Given the description of an element on the screen output the (x, y) to click on. 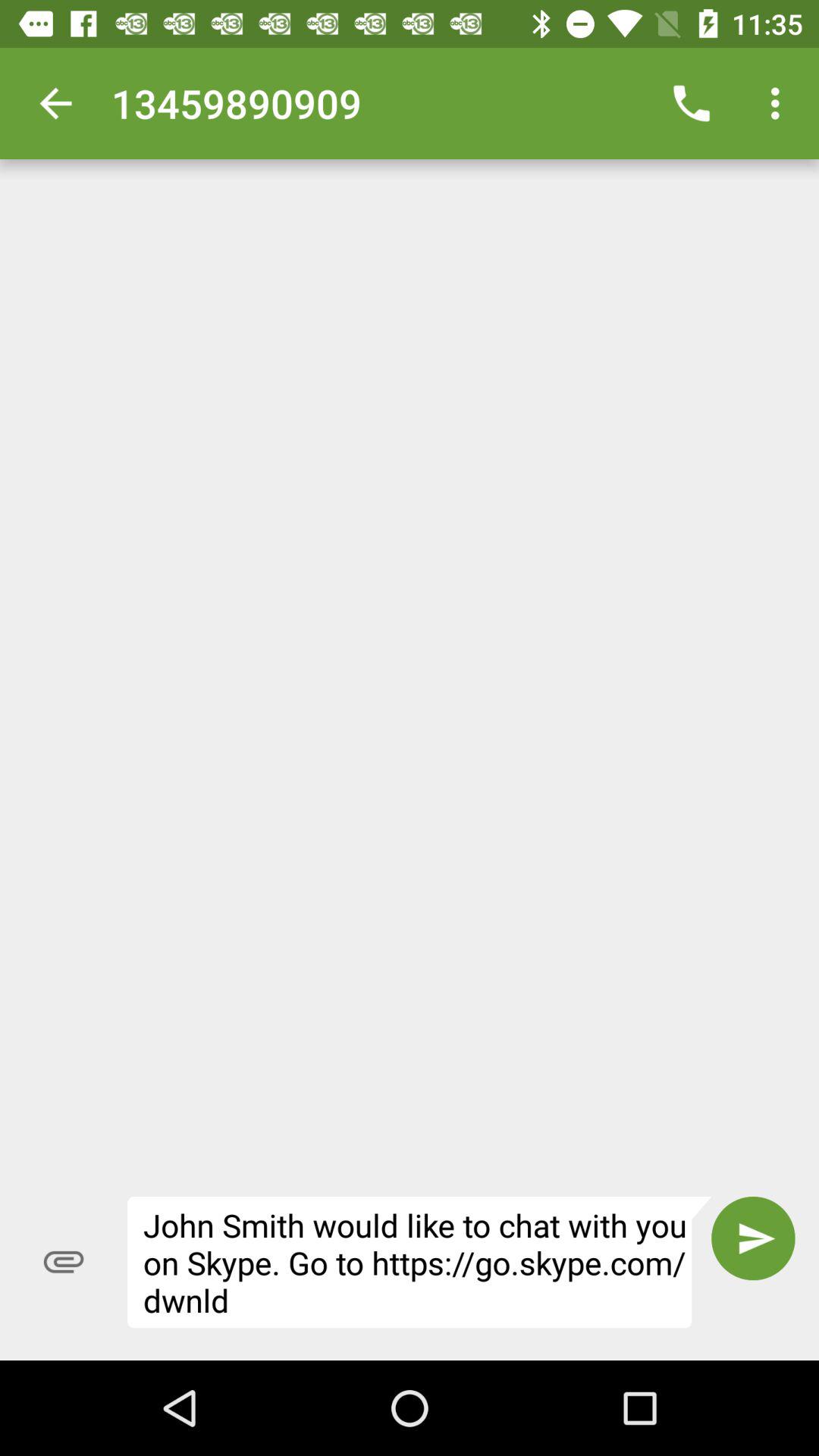
swipe until john smith would item (419, 1262)
